Given the description of an element on the screen output the (x, y) to click on. 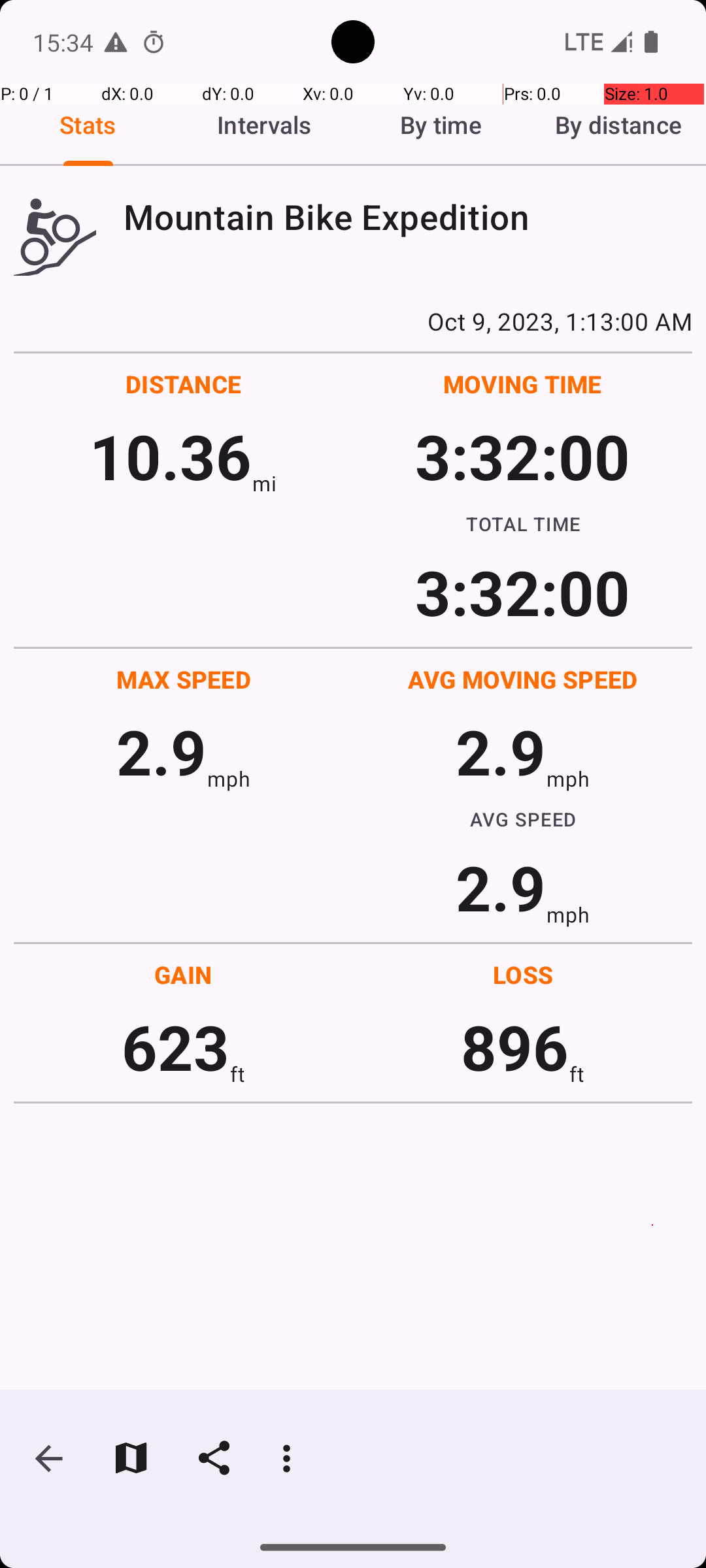
Mountain Bike Expedition Element type: android.widget.TextView (407, 216)
Oct 9, 2023, 1:13:00 AM Element type: android.widget.TextView (352, 320)
10.36 Element type: android.widget.TextView (170, 455)
3:32:00 Element type: android.widget.TextView (522, 455)
2.9 Element type: android.widget.TextView (161, 750)
623 Element type: android.widget.TextView (175, 1045)
896 Element type: android.widget.TextView (514, 1045)
